Given the description of an element on the screen output the (x, y) to click on. 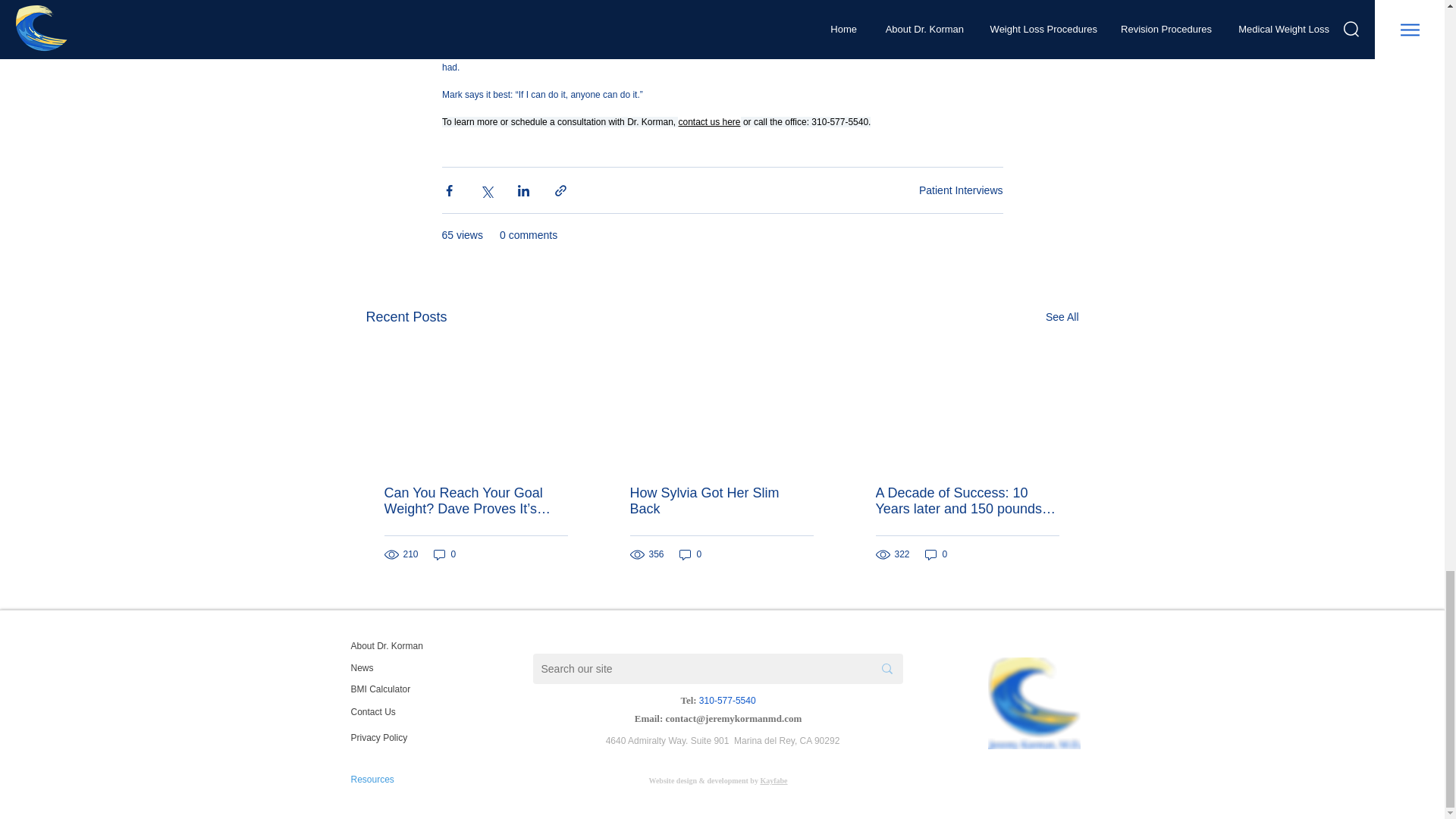
0 (936, 554)
contact us here (708, 122)
See All (1061, 317)
How Sylvia Got Her Slim Back (720, 500)
0 (690, 554)
Patient Interviews (960, 190)
0 (445, 554)
Jeremy Korman, M.D. Main Logo (1033, 703)
A Decade of Success: 10 Years later and 150 pounds lighter (966, 500)
